Given the description of an element on the screen output the (x, y) to click on. 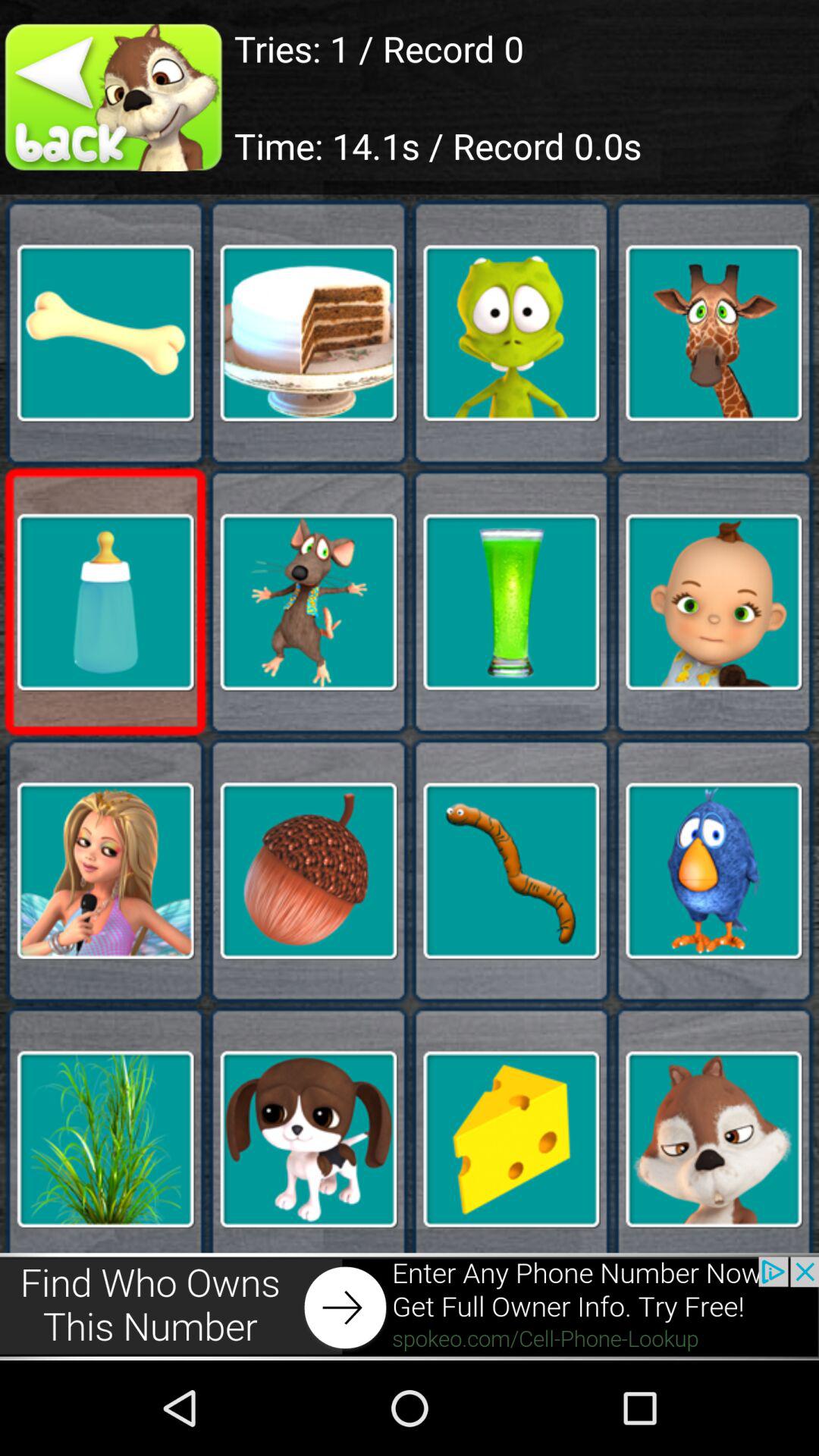
go back (117, 97)
